Given the description of an element on the screen output the (x, y) to click on. 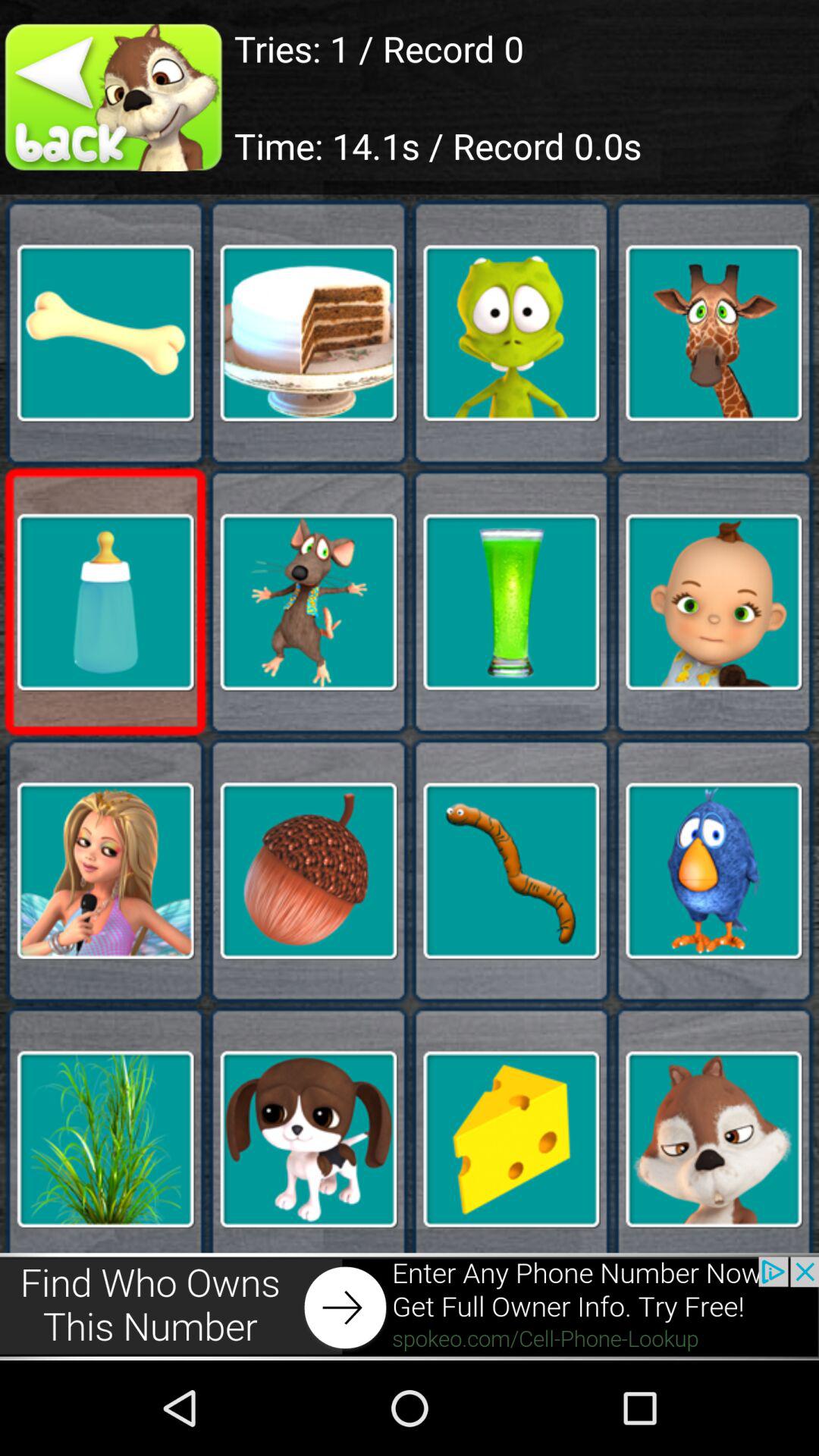
go back (117, 97)
